Given the description of an element on the screen output the (x, y) to click on. 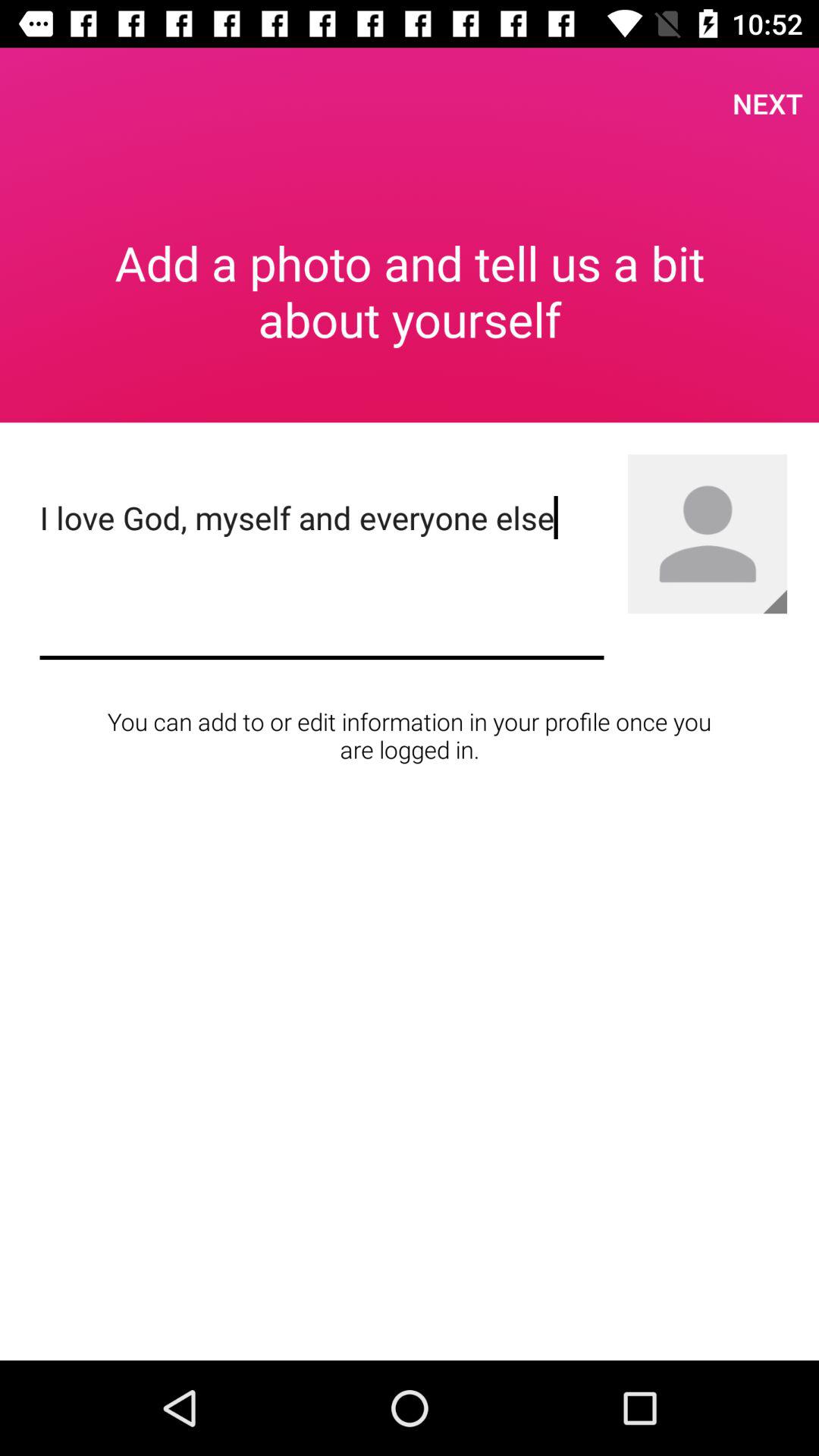
choose item above add a photo (767, 103)
